Given the description of an element on the screen output the (x, y) to click on. 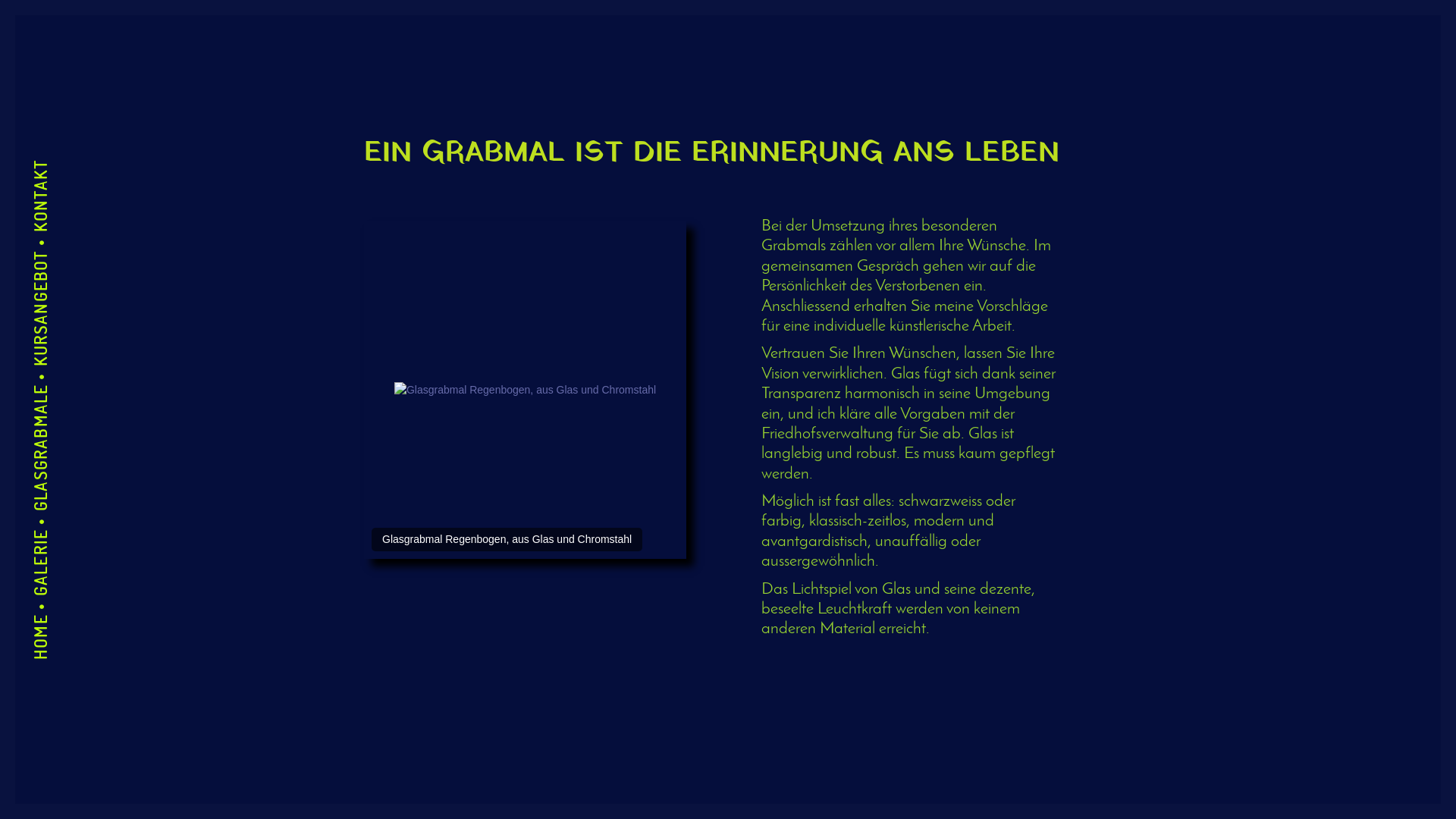
GALERIE Element type: text (62, 540)
HOME Element type: text (52, 625)
KONTAKT Element type: text (65, 170)
KURSANGEBOT Element type: text (87, 261)
GLASGRABMALE Element type: text (92, 395)
